Given the description of an element on the screen output the (x, y) to click on. 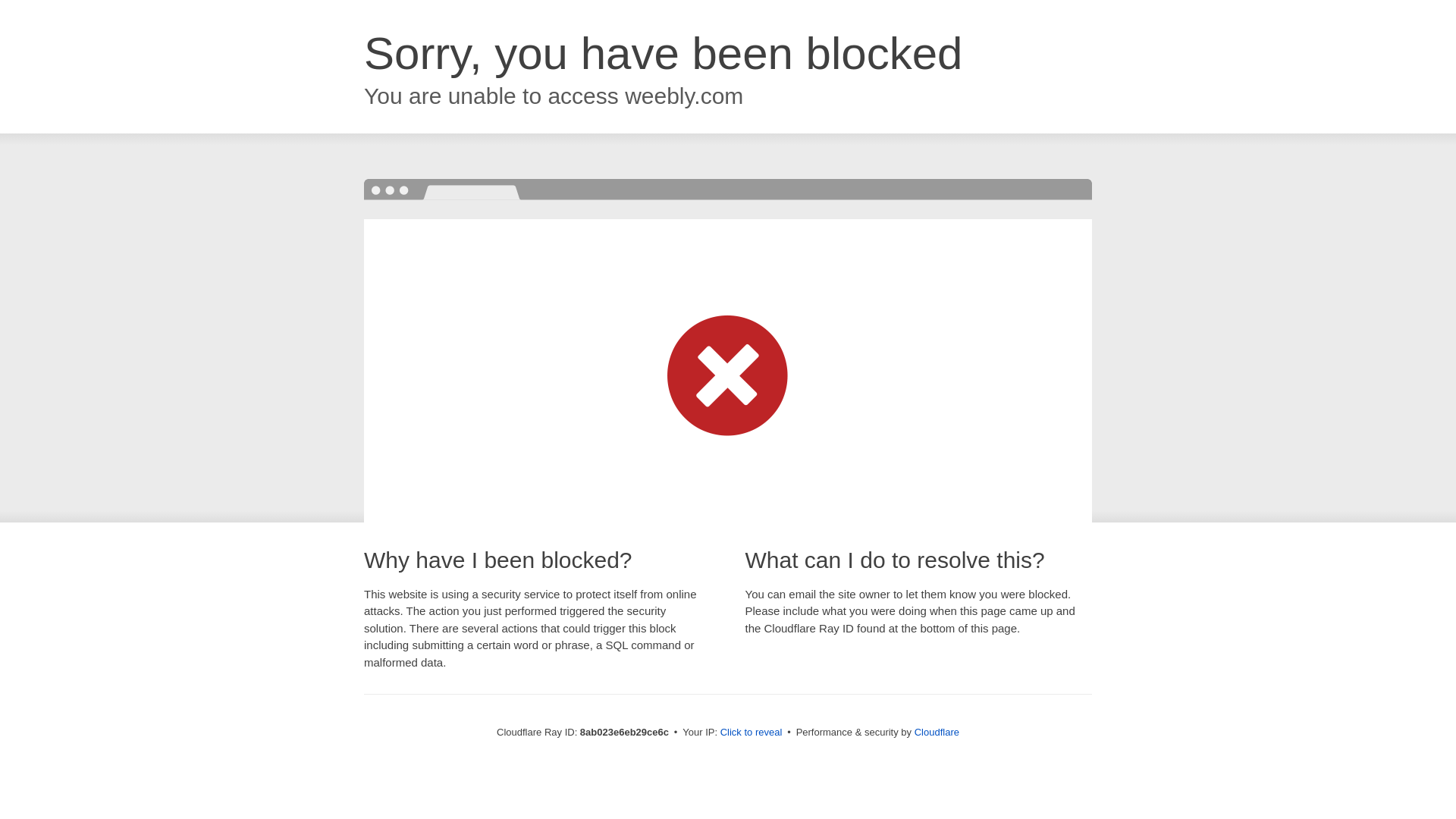
Cloudflare (936, 731)
Click to reveal (751, 732)
